Given the description of an element on the screen output the (x, y) to click on. 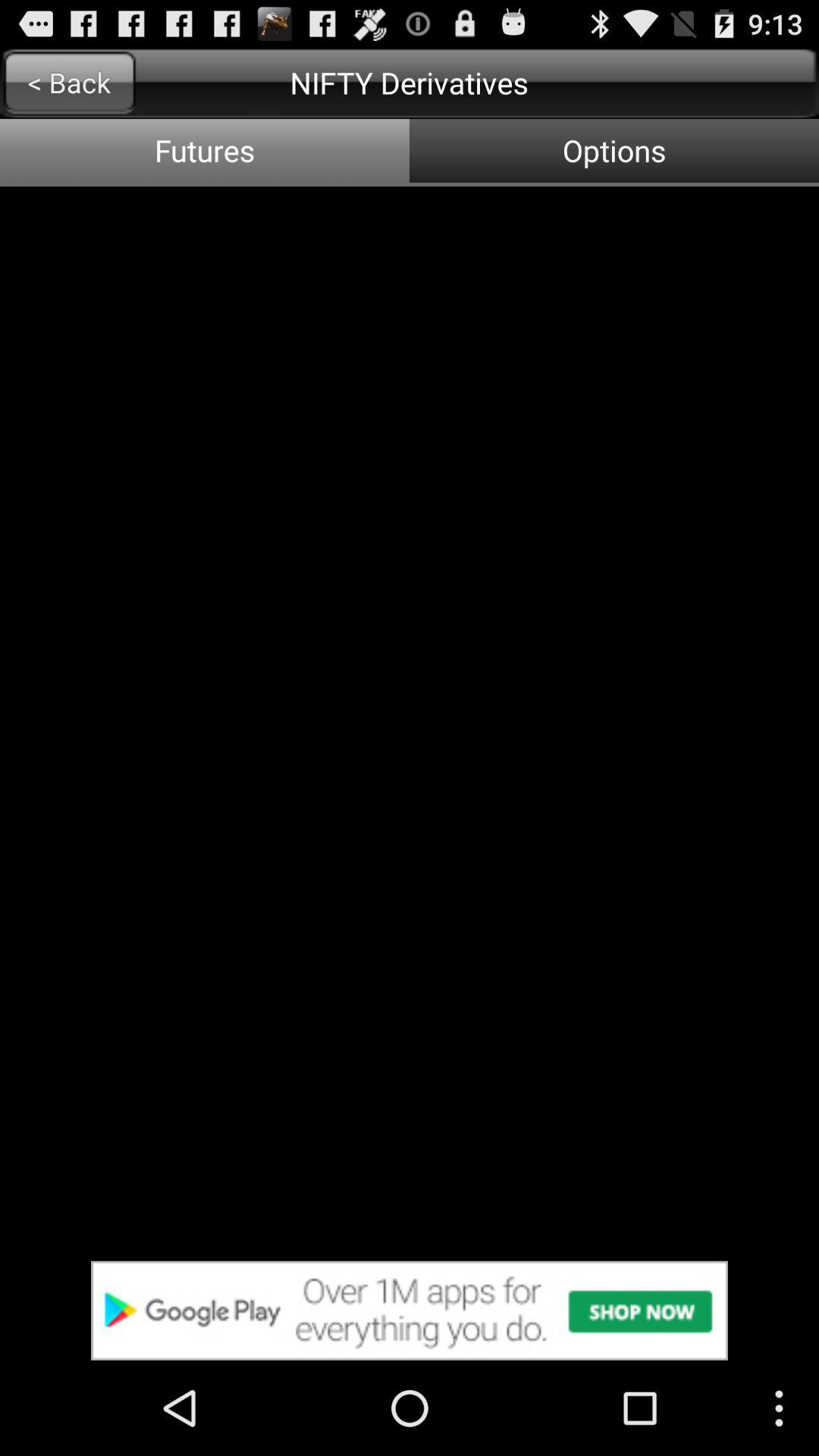
go to advertisement (409, 1310)
